Given the description of an element on the screen output the (x, y) to click on. 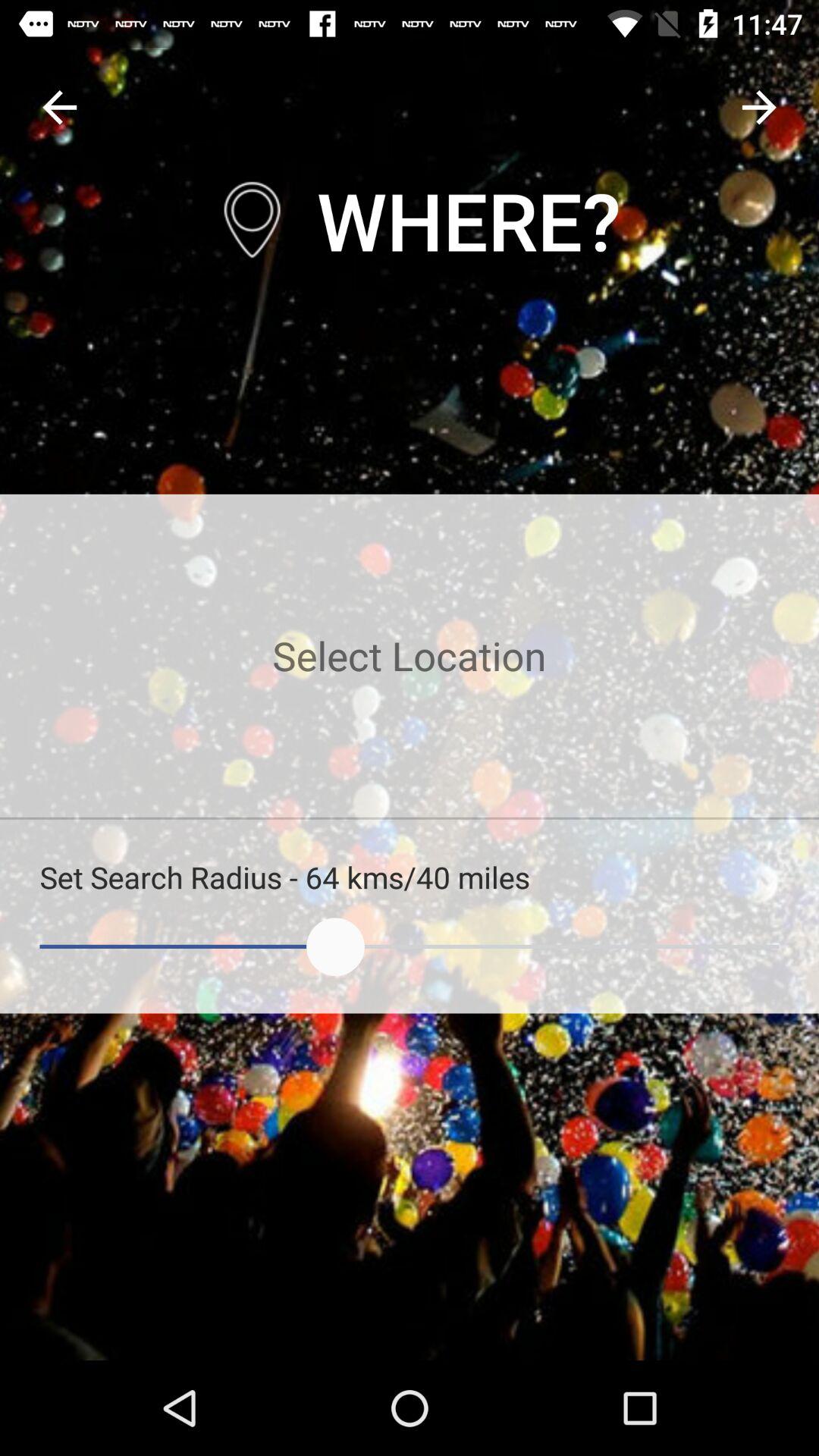
go to next page (759, 107)
